Given the description of an element on the screen output the (x, y) to click on. 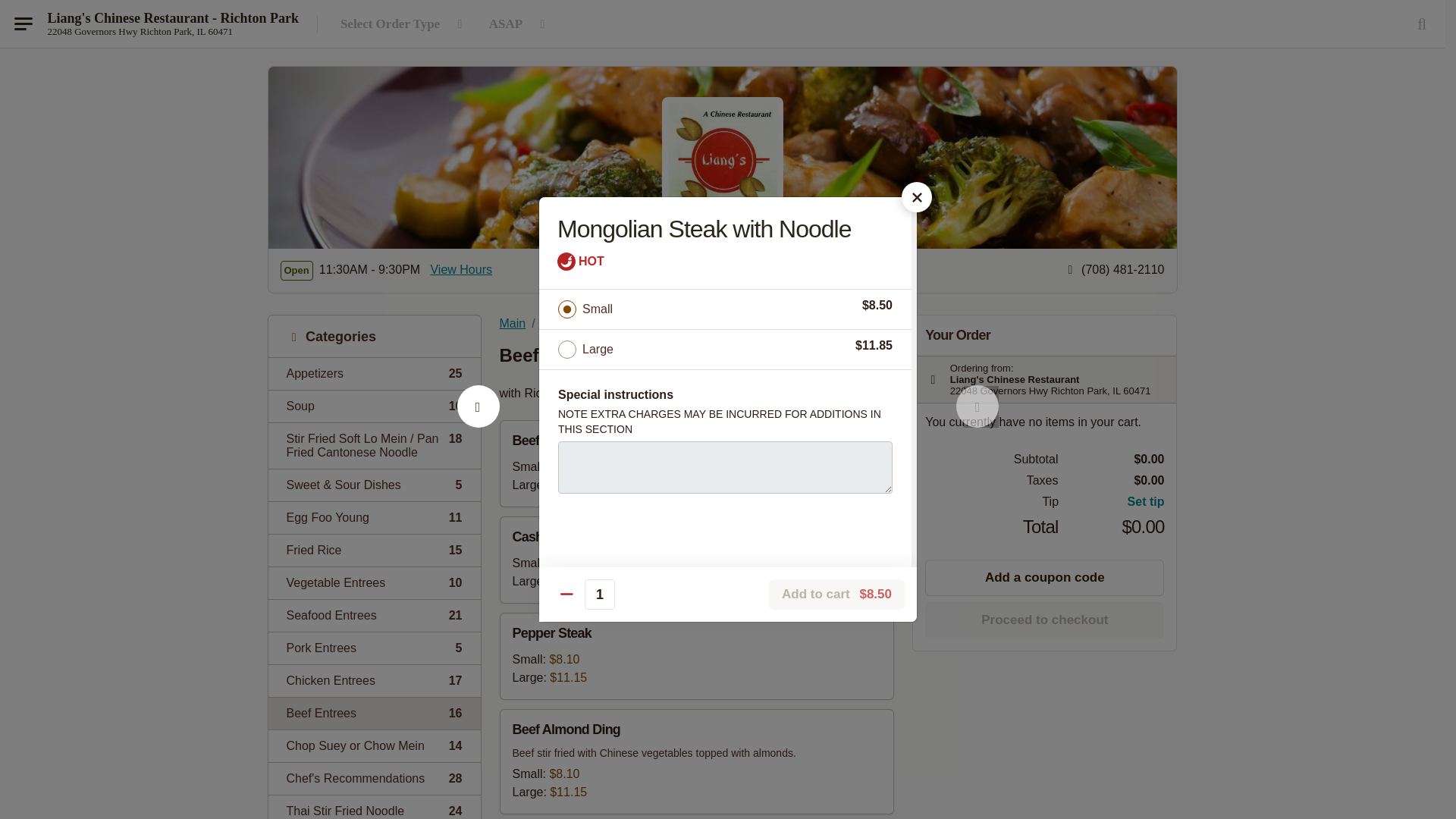
ASAP (519, 23)
Proceed to checkout (1043, 619)
View Hours (373, 745)
Liang's Chinese Restaurant - Richton Park (373, 373)
1 (373, 614)
Garlic Beef (373, 647)
Select Order Type (460, 270)
